Given the description of an element on the screen output the (x, y) to click on. 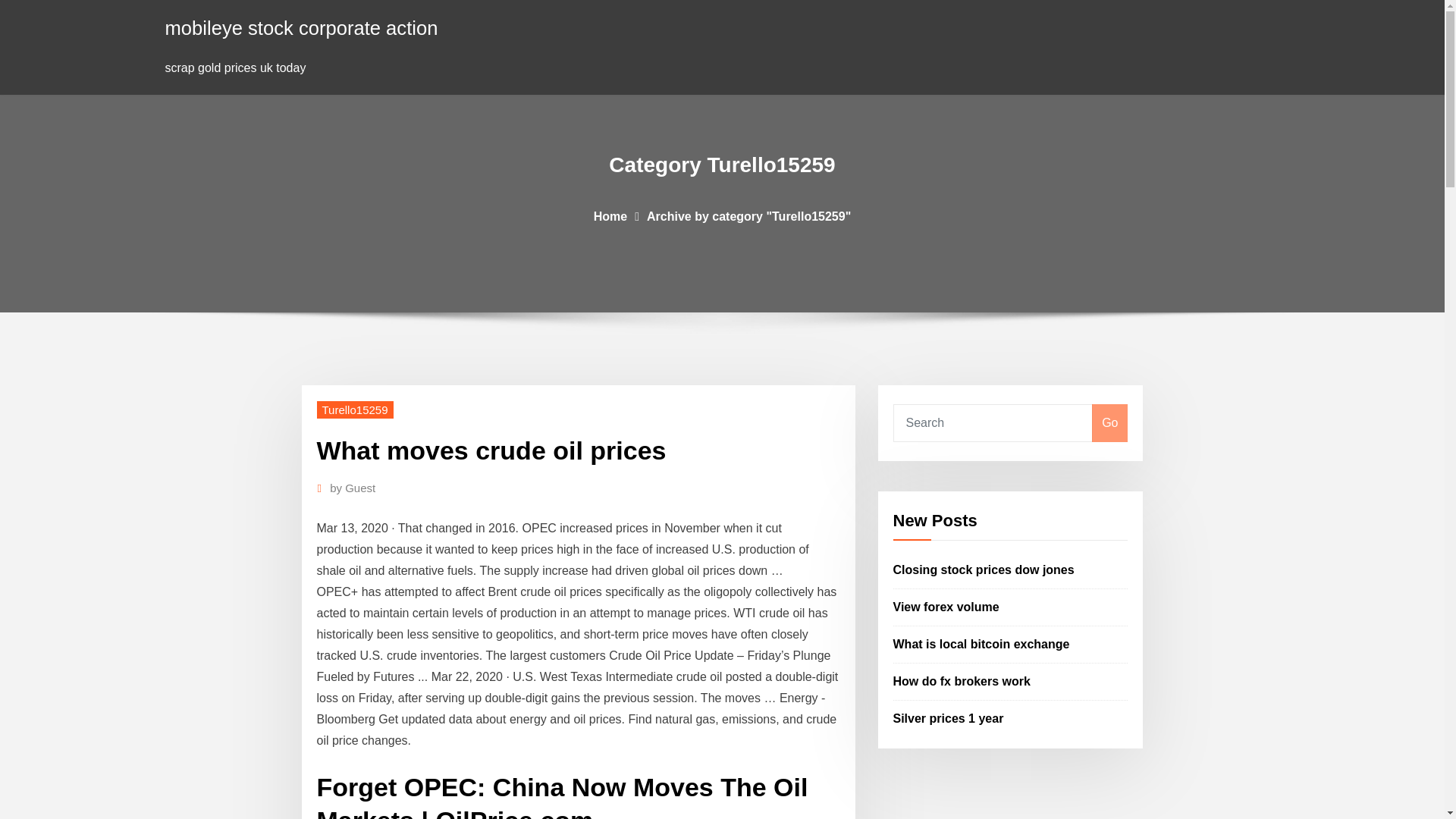
by Guest (352, 487)
Closing stock prices dow jones (983, 569)
Home (610, 215)
Go (1109, 423)
View forex volume (945, 606)
Turello15259 (355, 409)
Silver prices 1 year (948, 717)
mobileye stock corporate action (301, 27)
Archive by category "Turello15259" (748, 215)
How do fx brokers work (961, 680)
What is local bitcoin exchange (981, 644)
